Given the description of an element on the screen output the (x, y) to click on. 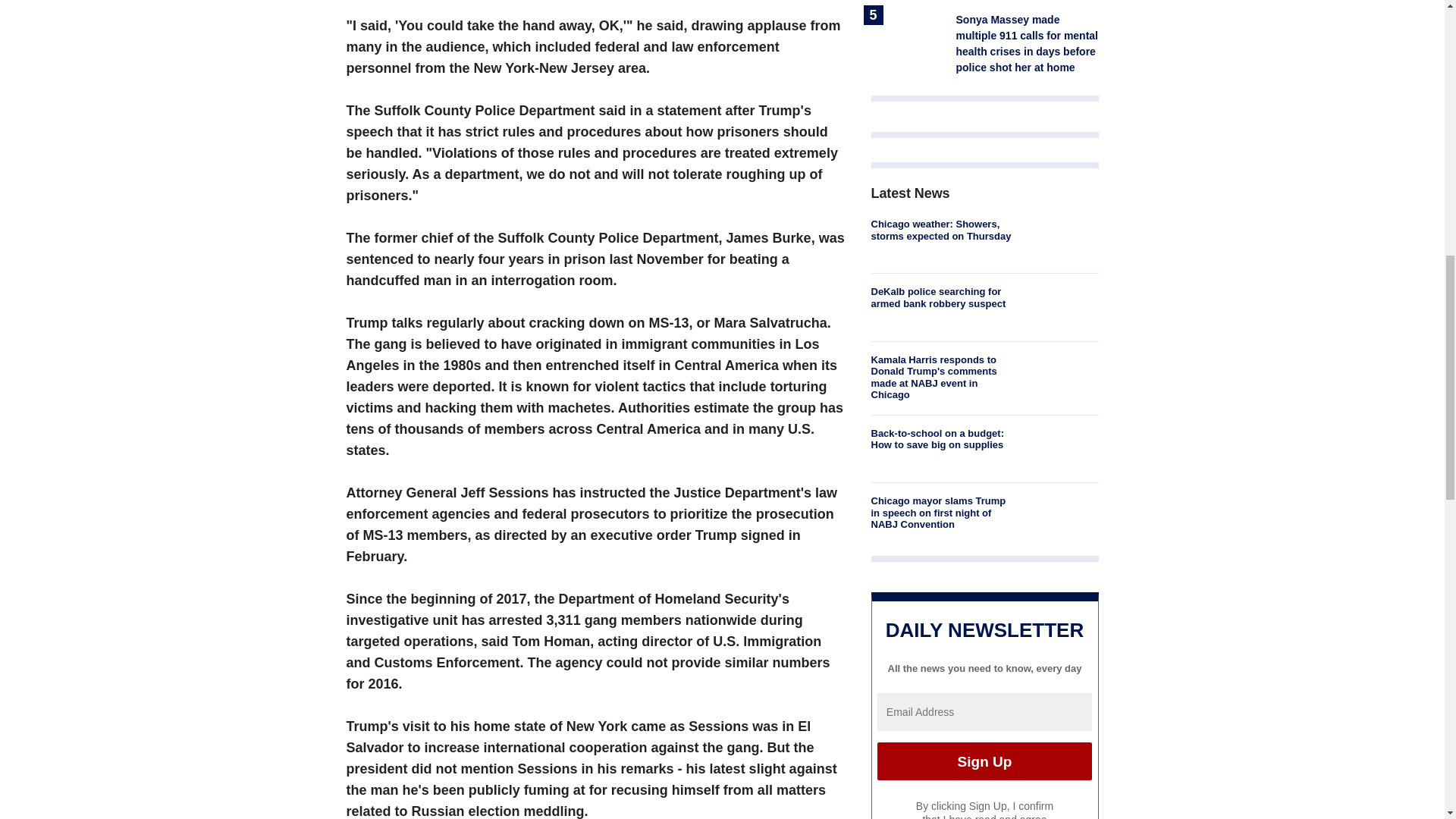
Sign Up (984, 761)
